Given the description of an element on the screen output the (x, y) to click on. 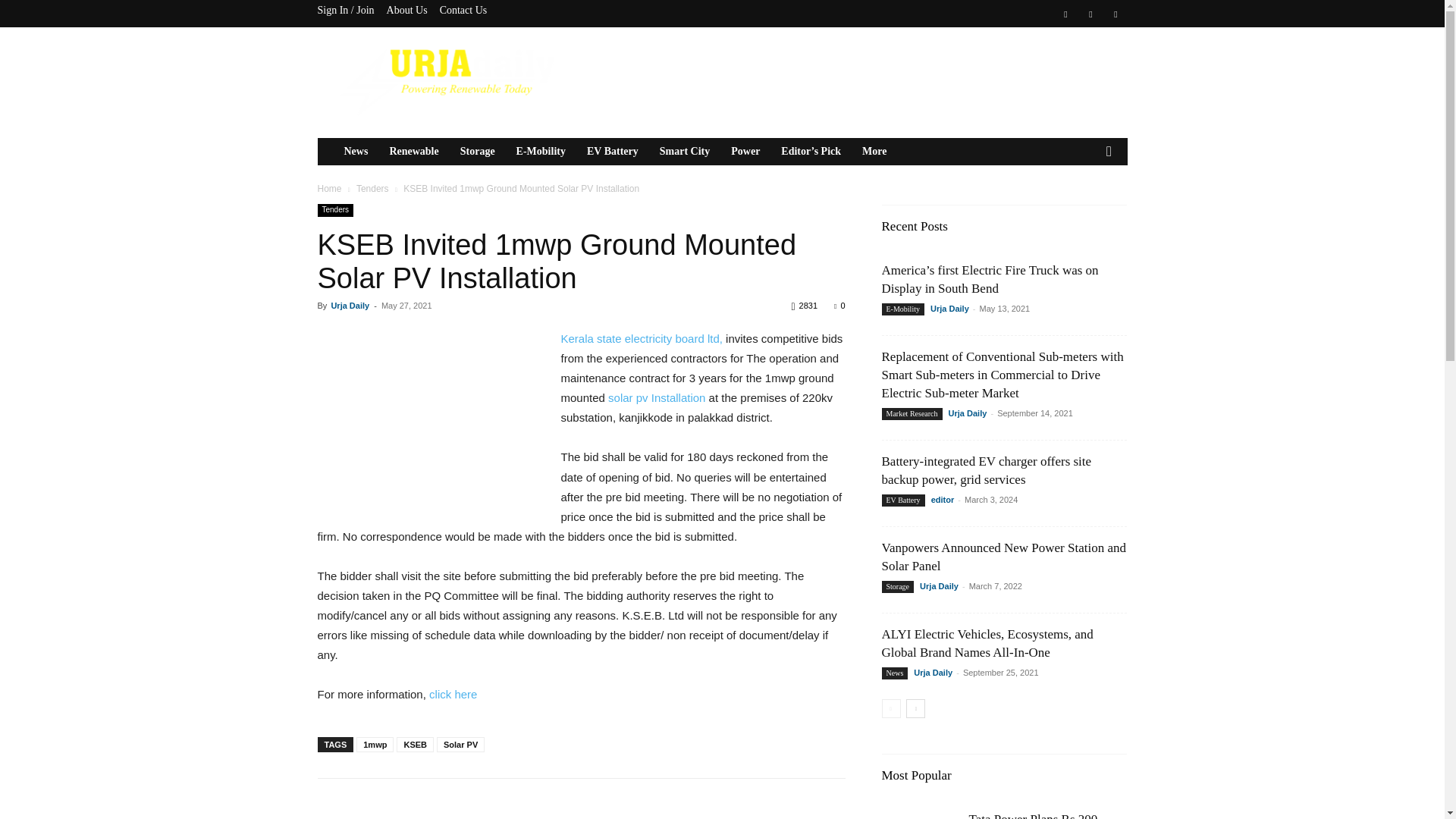
bottomFacebookLike (430, 802)
Contact Us (463, 9)
View all posts in Tenders (372, 188)
About Us (407, 9)
